Given the description of an element on the screen output the (x, y) to click on. 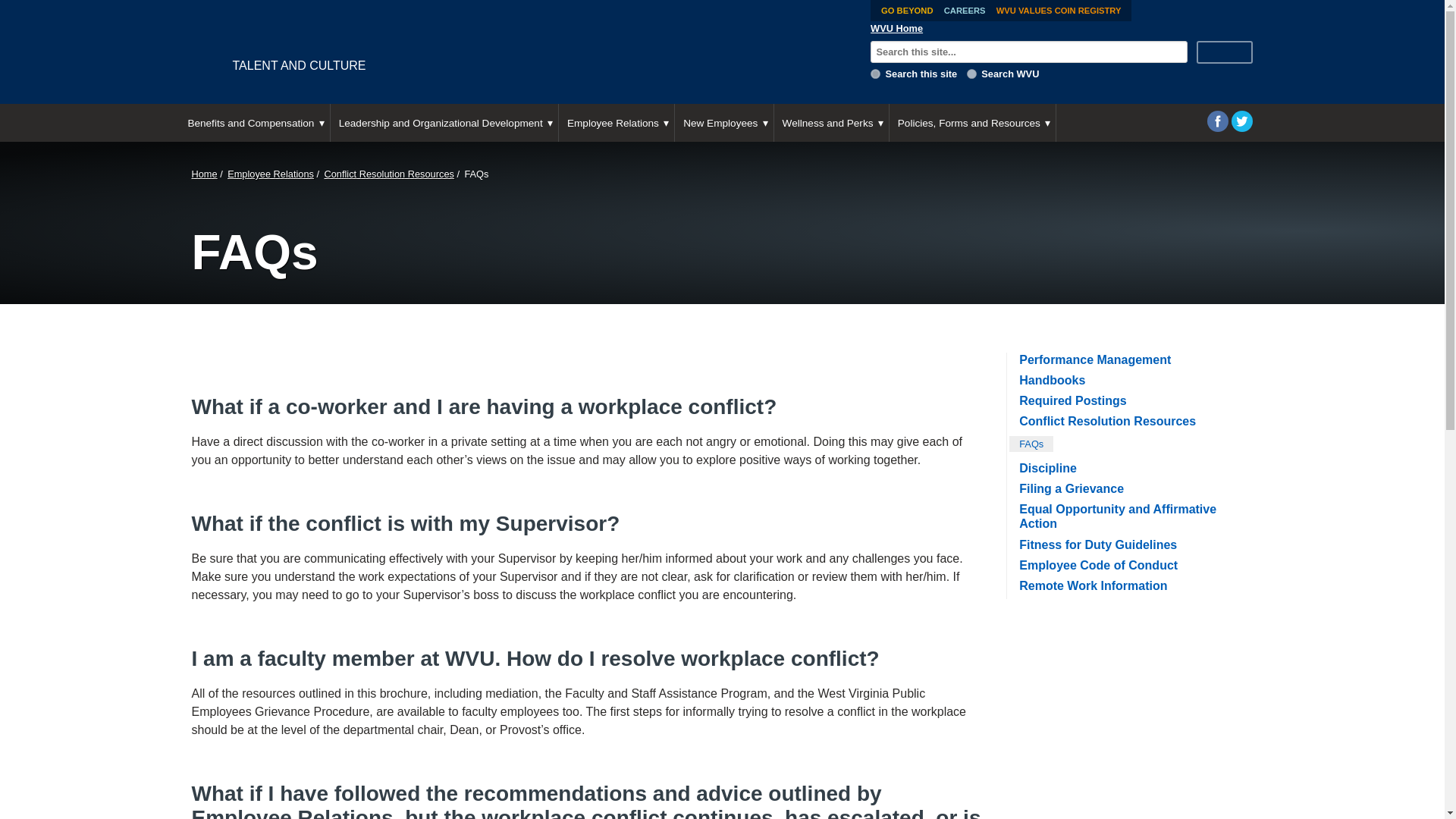
wvu.edu (971, 73)
Leadership and Organizational Development (443, 122)
TALENT AND CULTURE (517, 52)
Benefits and Compensation (254, 122)
WVU Home (896, 28)
New Employees (724, 122)
WVU VALUES COIN REGISTRY (1058, 10)
Search (1224, 51)
Wellness and Perks (831, 122)
CAREERS (964, 10)
GO BEYOND (906, 10)
Search (1224, 51)
Search (1224, 51)
Employee Relations (616, 122)
talentandculture.wvu.edu (875, 73)
